Given the description of an element on the screen output the (x, y) to click on. 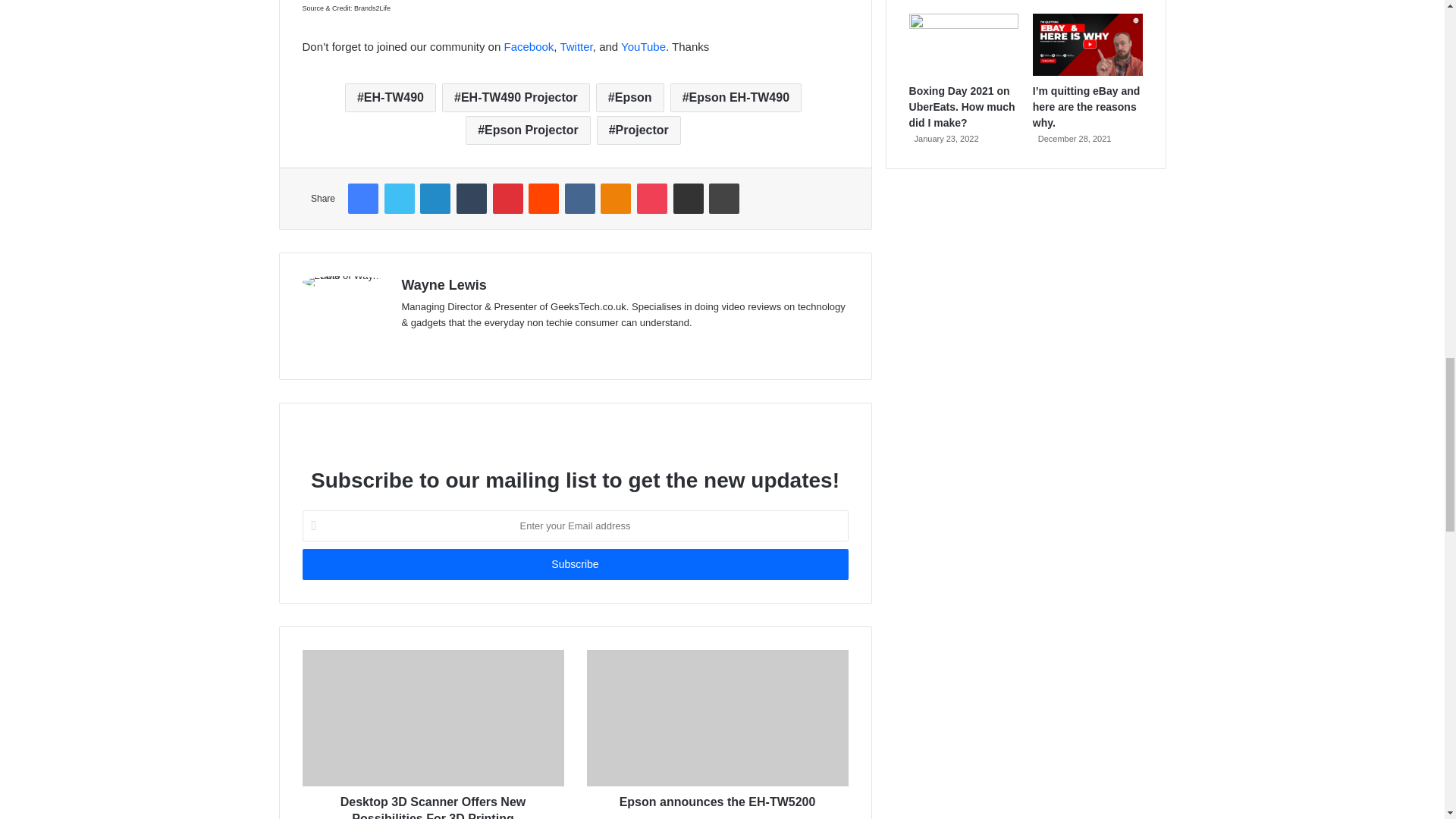
Subscribe (574, 563)
